Given the description of an element on the screen output the (x, y) to click on. 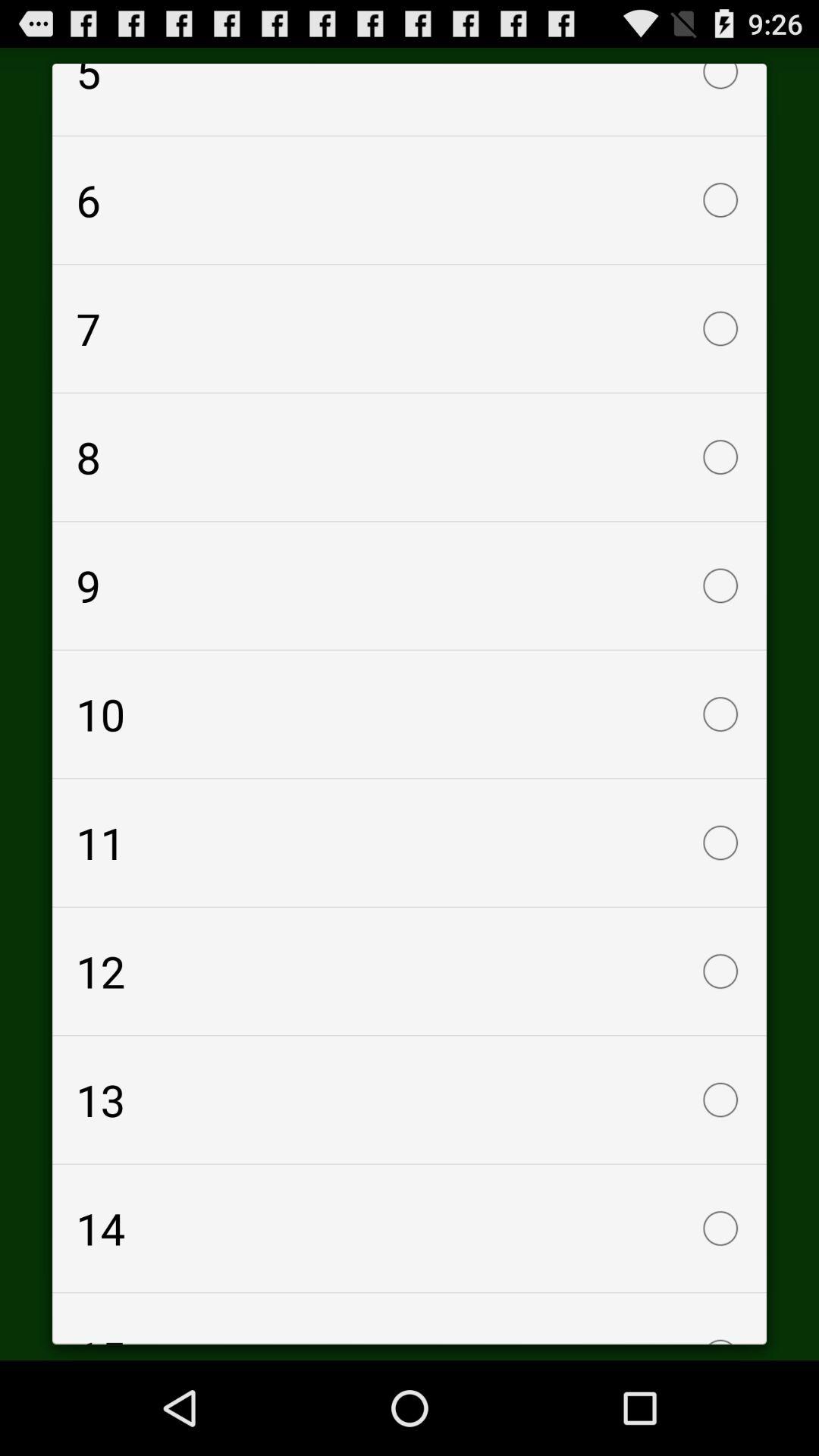
click checkbox above 15 icon (409, 1228)
